Given the description of an element on the screen output the (x, y) to click on. 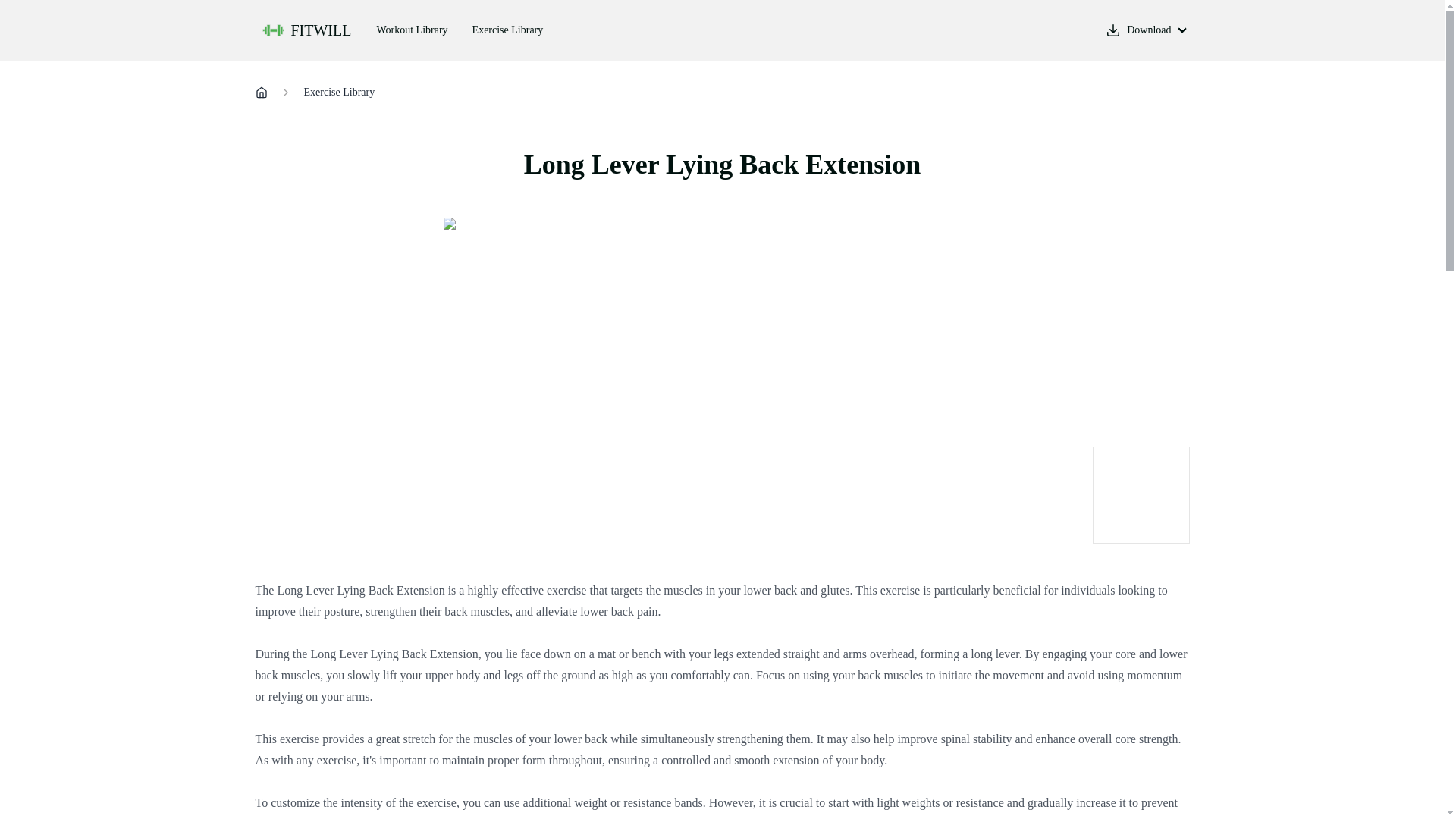
Exercise Library (508, 30)
Workout Library (412, 30)
QR Code: View in the Fitwill app (1140, 494)
Home (260, 92)
FITWILL (307, 30)
Exercise Library (338, 92)
